Given the description of an element on the screen output the (x, y) to click on. 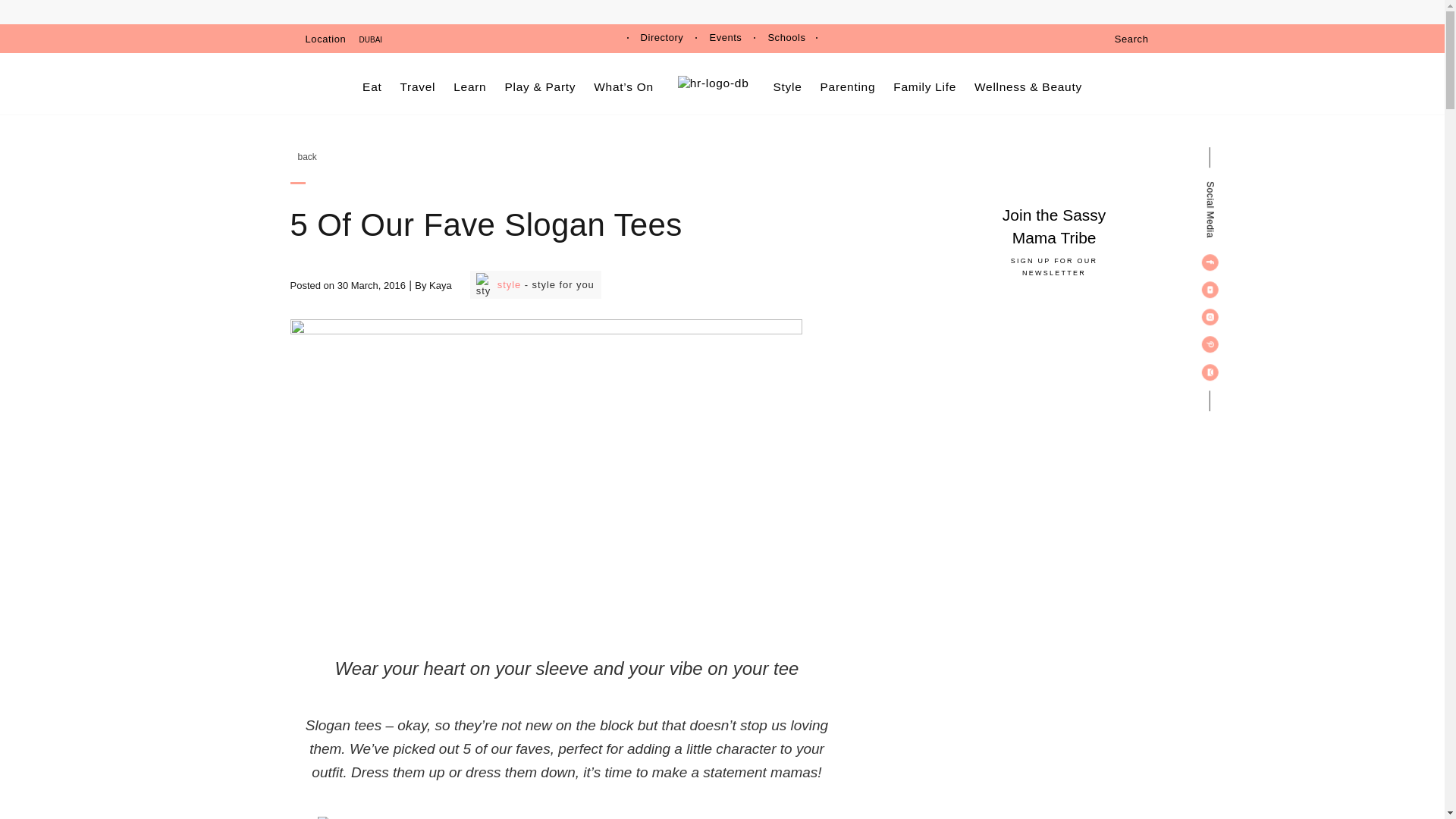
Sassy Mama Pinterest (1209, 344)
Travel (418, 87)
Sassy Mama Facebook Page (1209, 262)
Sassy Mama Youtube (1209, 289)
Eat (371, 87)
Learn (469, 87)
Schools (785, 38)
Sassy Mama Instagram (1209, 317)
